Given the description of an element on the screen output the (x, y) to click on. 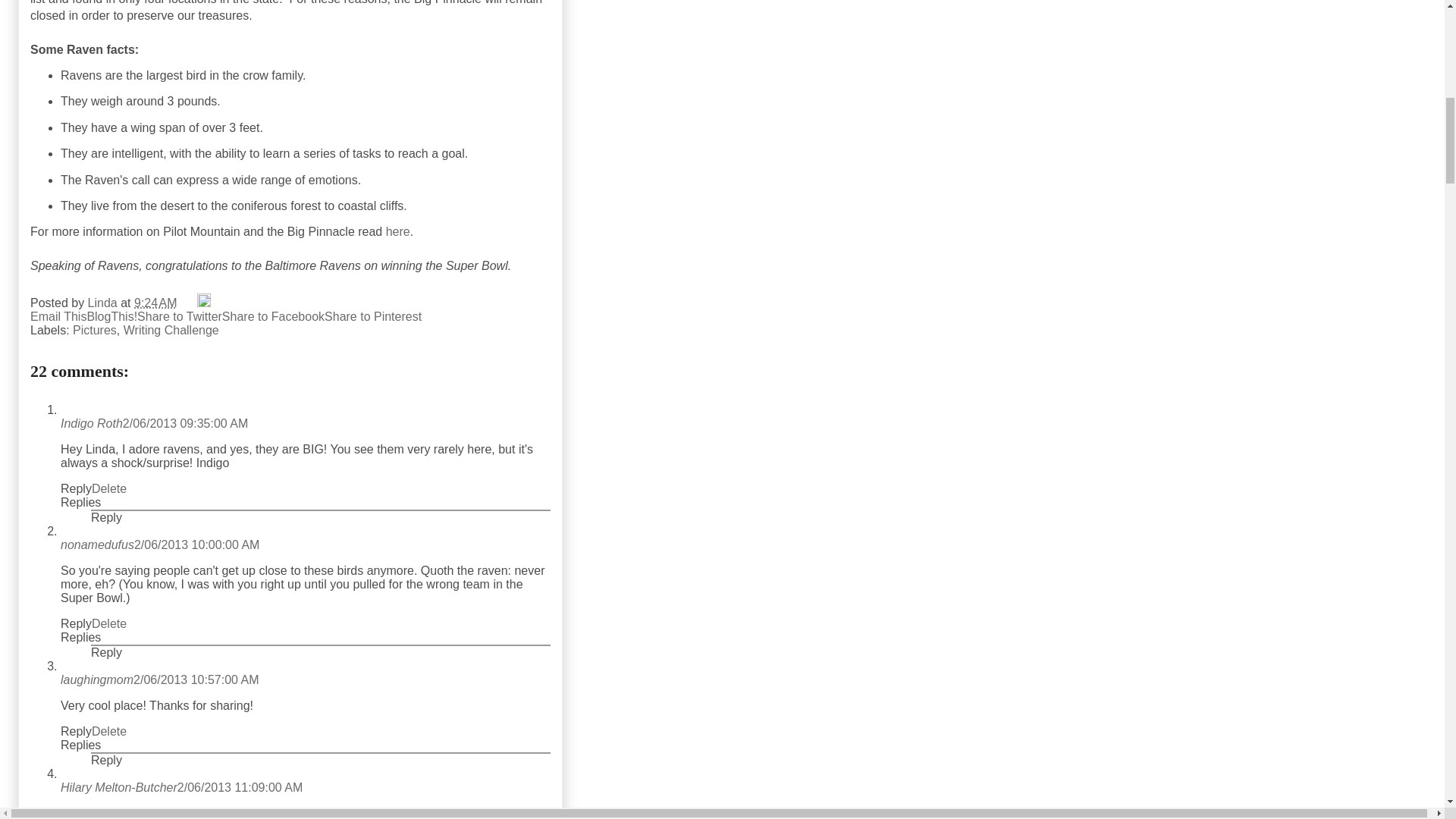
Share to Pinterest (373, 316)
Edit Post (203, 302)
Pictures (94, 329)
Share to Pinterest (373, 316)
Linda (103, 302)
BlogThis! (110, 316)
Reply (76, 488)
author profile (103, 302)
Reply (106, 517)
Reply (76, 623)
Email This (57, 316)
Indigo Roth (91, 422)
Writing Challenge (171, 329)
Delete (108, 488)
Share to Facebook (273, 316)
